Given the description of an element on the screen output the (x, y) to click on. 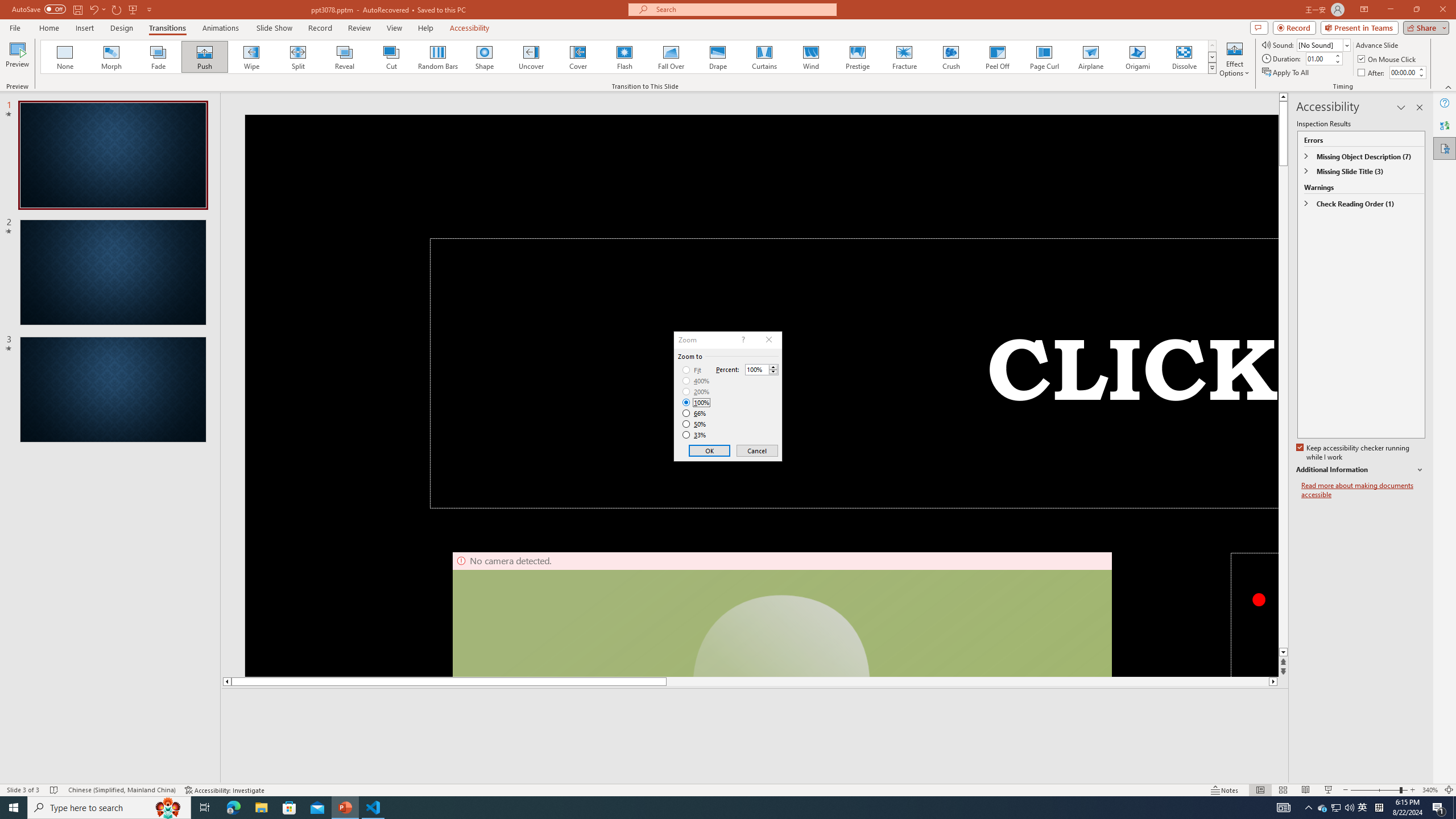
33% (694, 434)
Fit (691, 370)
After (1403, 72)
66% (694, 412)
Curtains (764, 56)
Percent (761, 369)
